Given the description of an element on the screen output the (x, y) to click on. 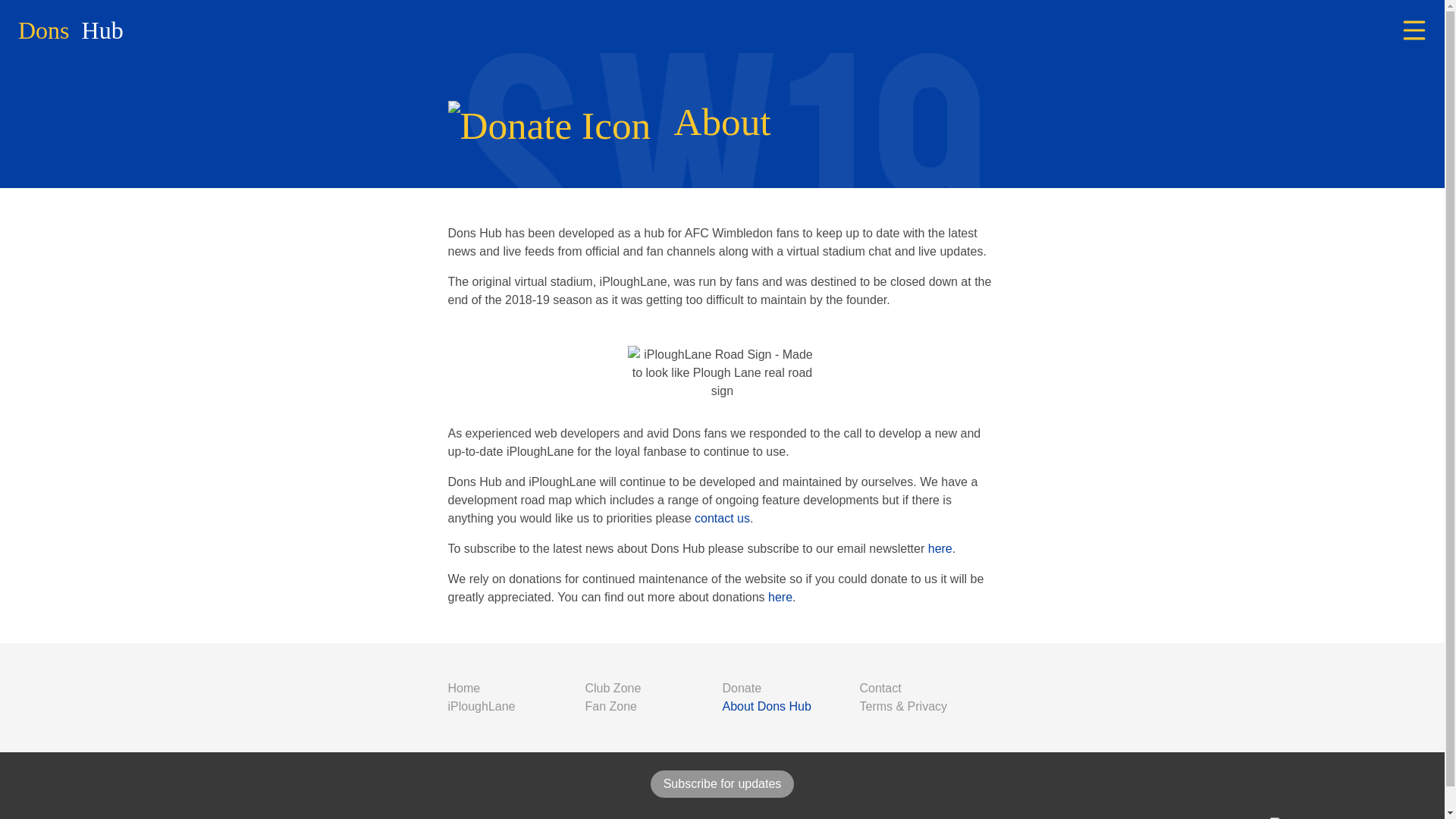
iPloughLane (480, 706)
here (940, 548)
here (780, 596)
Club Zone (613, 687)
Subscribe for updates (722, 783)
About Dons Hub (766, 706)
Donate (741, 687)
Menu (1414, 30)
Fan Zone (611, 706)
Contact (880, 687)
